Given the description of an element on the screen output the (x, y) to click on. 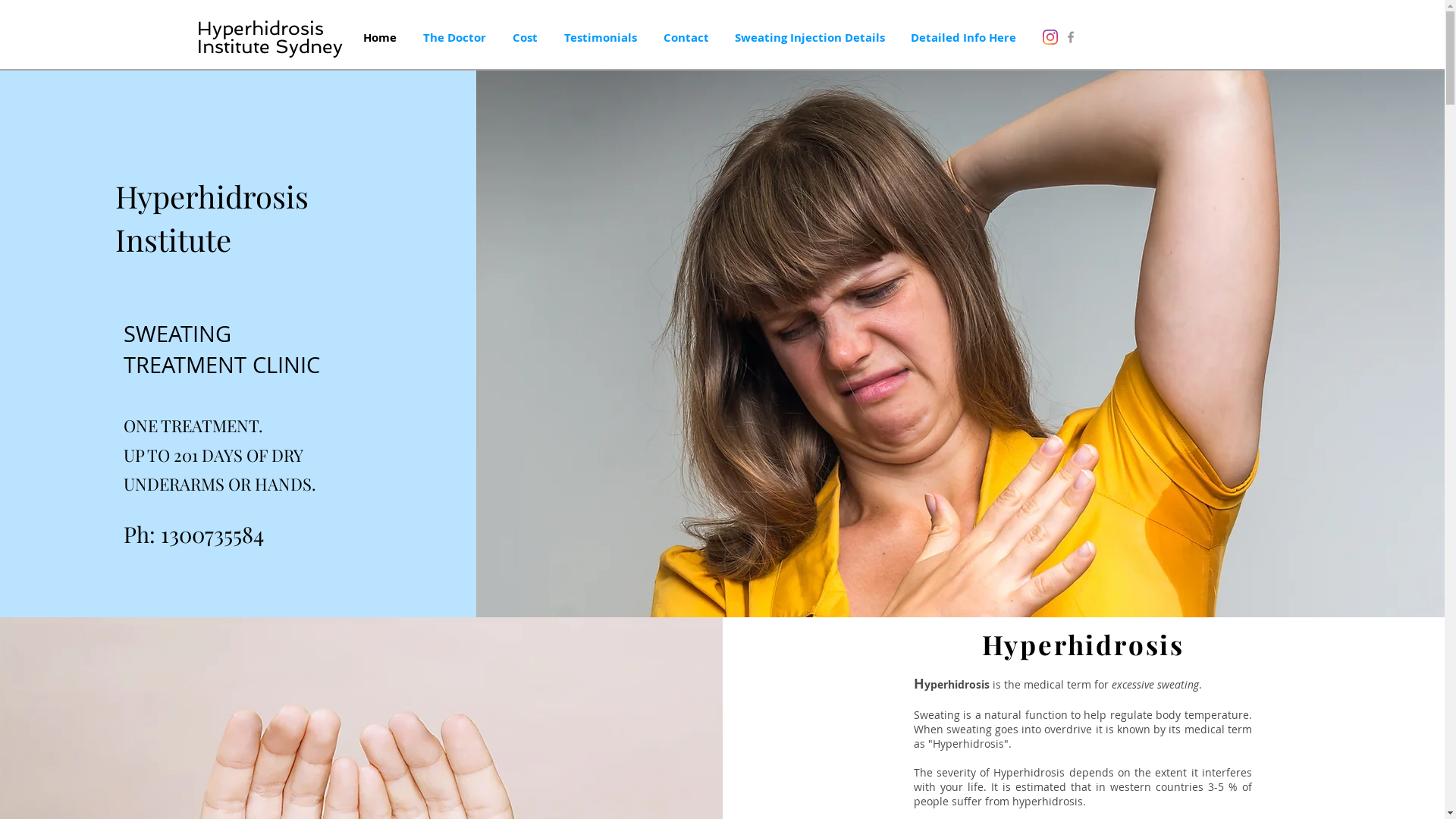
Home Element type: text (380, 37)
Sweating Injection Details Element type: text (809, 37)
Cost Element type: text (524, 37)
Contact Element type: text (685, 37)
The Doctor Element type: text (453, 37)
Testimonials Element type: text (599, 37)
